Given the description of an element on the screen output the (x, y) to click on. 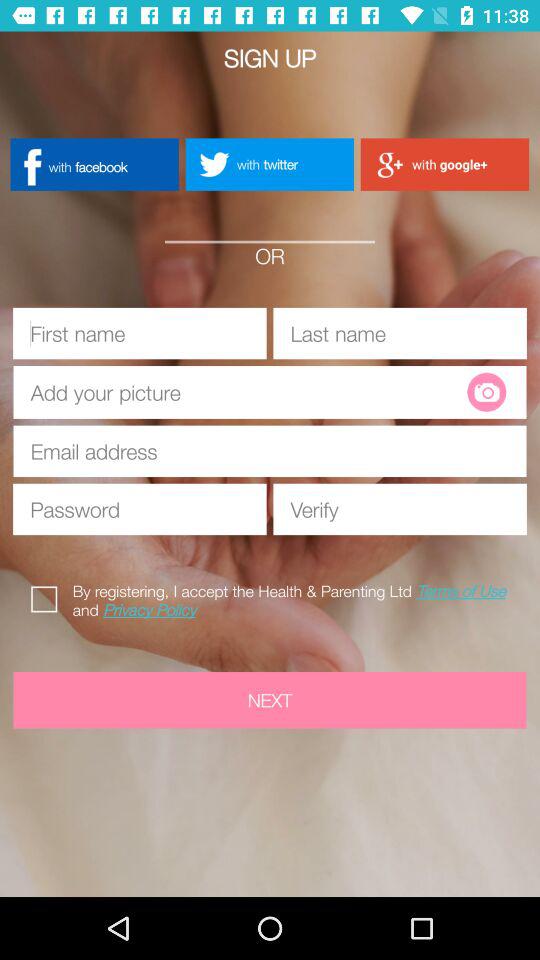
press icon next to the by registering i app (48, 596)
